Given the description of an element on the screen output the (x, y) to click on. 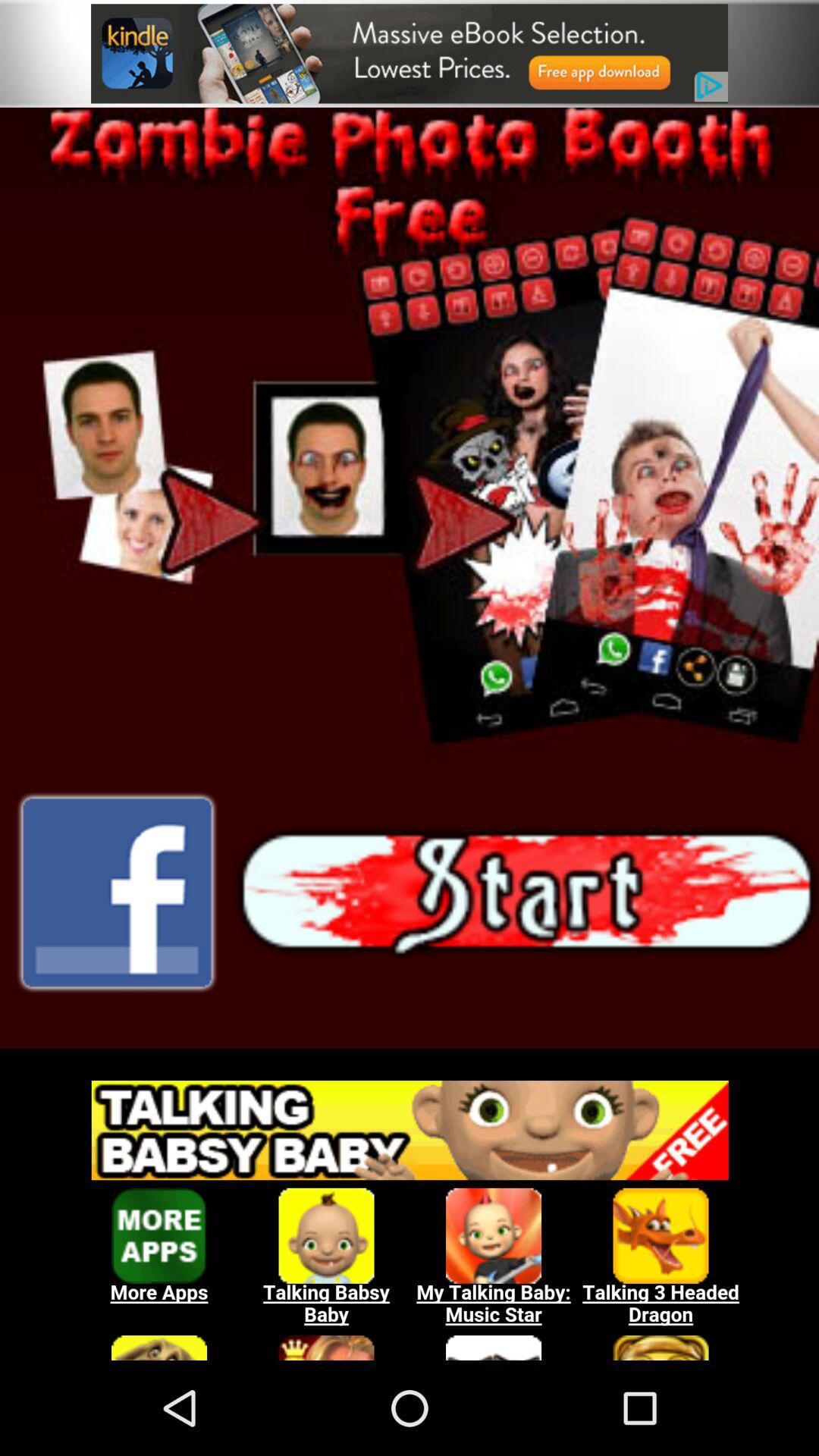
go to advertisement (409, 53)
